Given the description of an element on the screen output the (x, y) to click on. 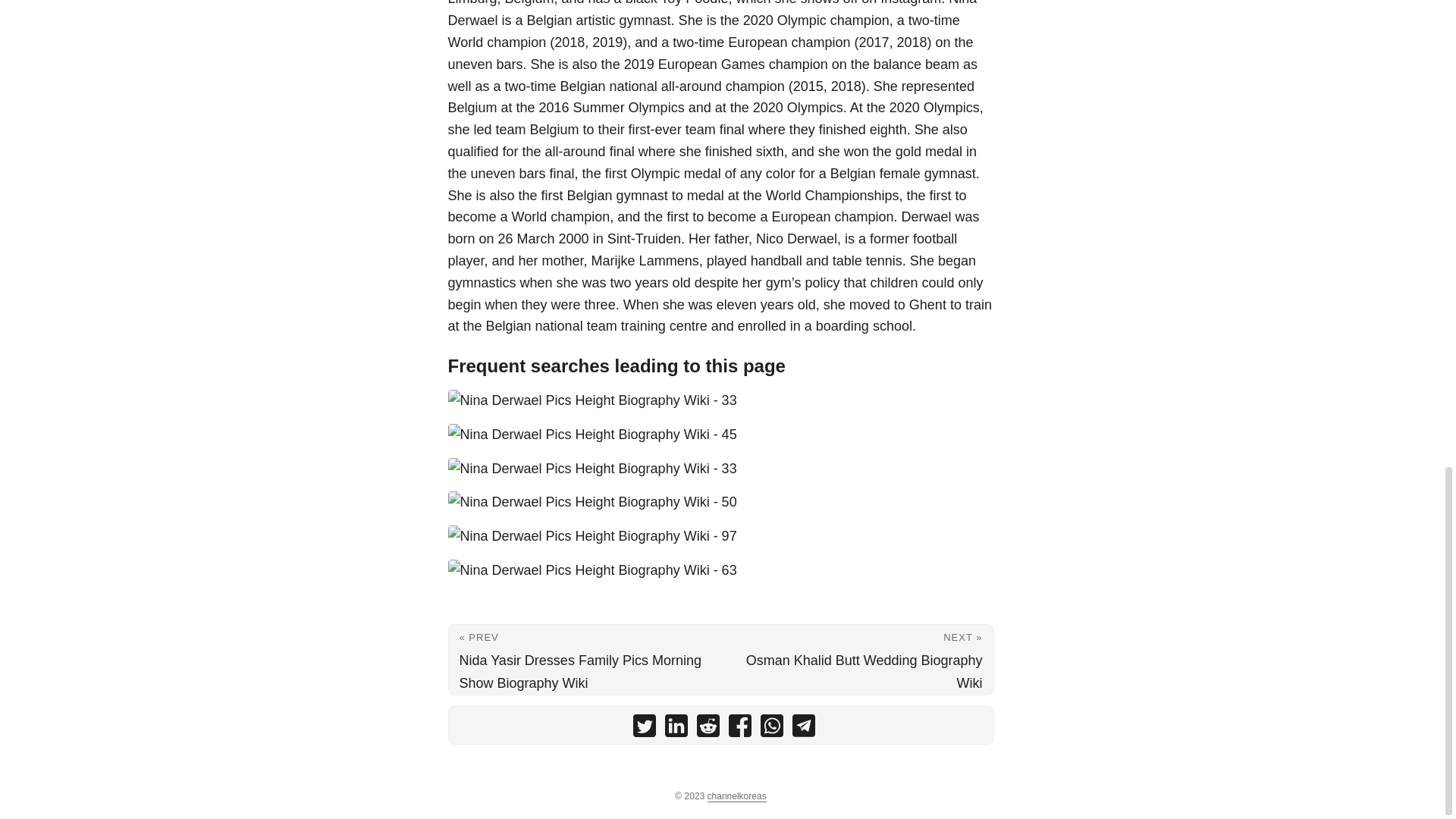
channelkoreas (737, 796)
